Given the description of an element on the screen output the (x, y) to click on. 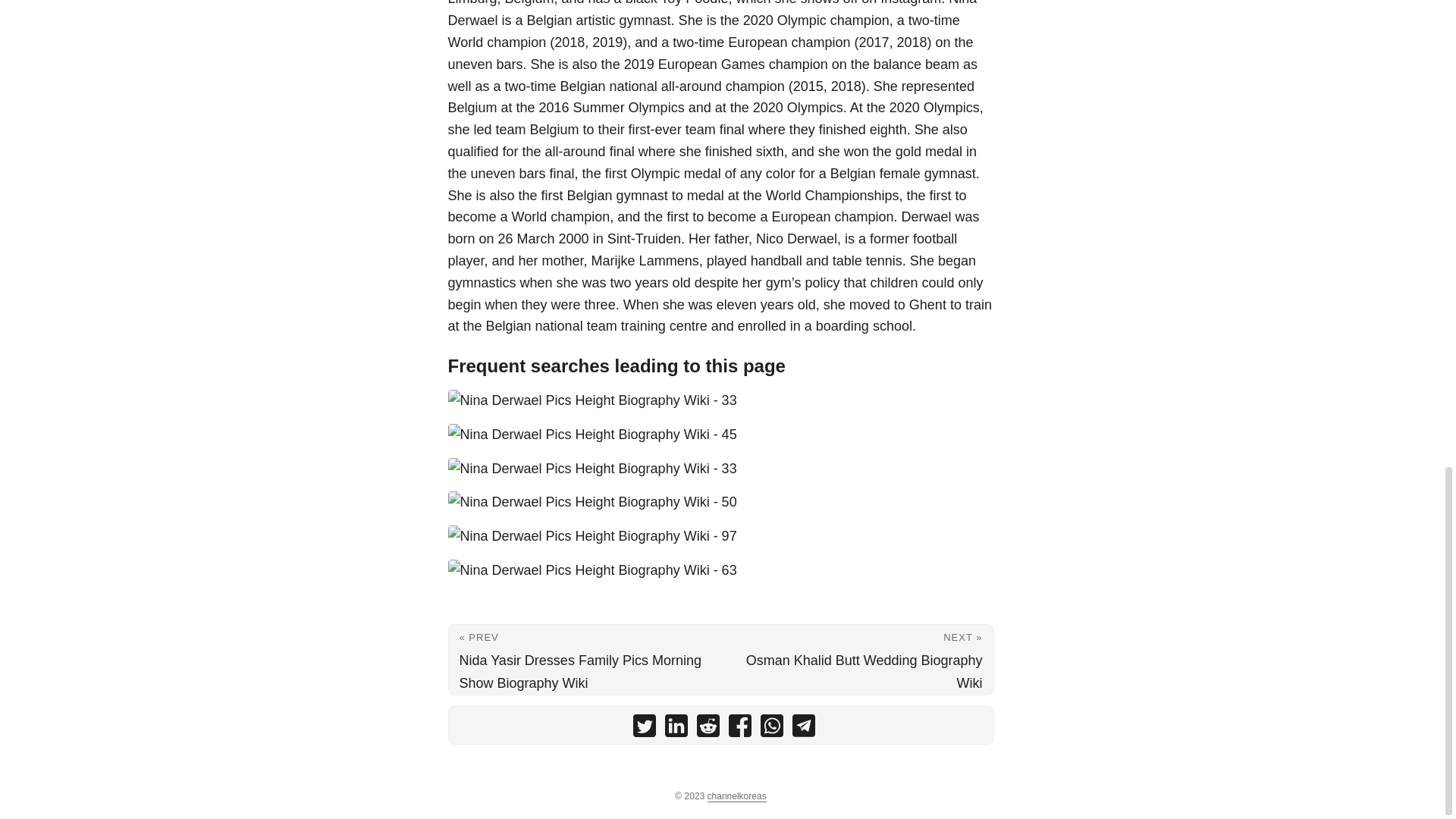
channelkoreas (737, 796)
